Given the description of an element on the screen output the (x, y) to click on. 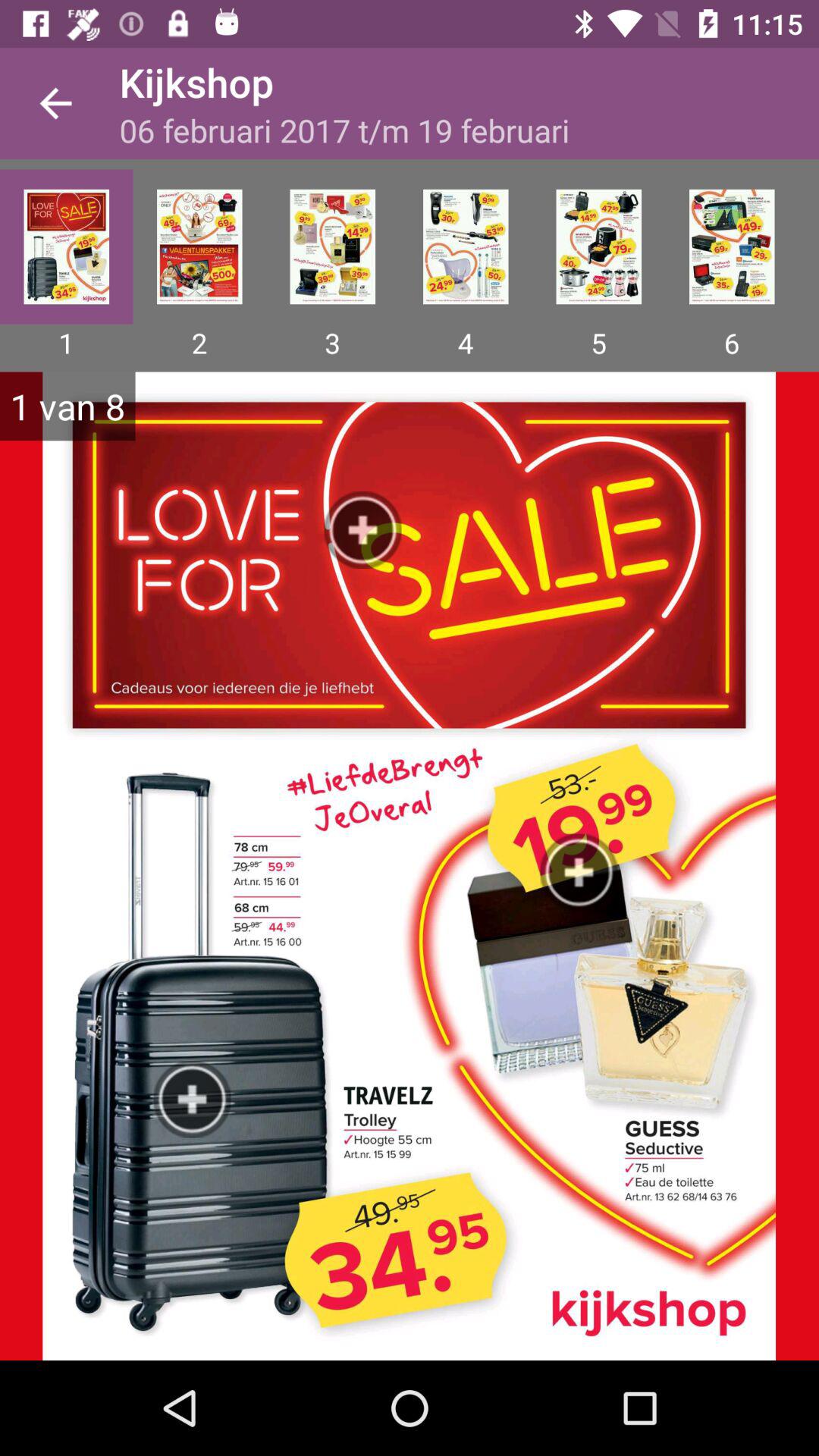
press the app above the 5 icon (598, 246)
